Given the description of an element on the screen output the (x, y) to click on. 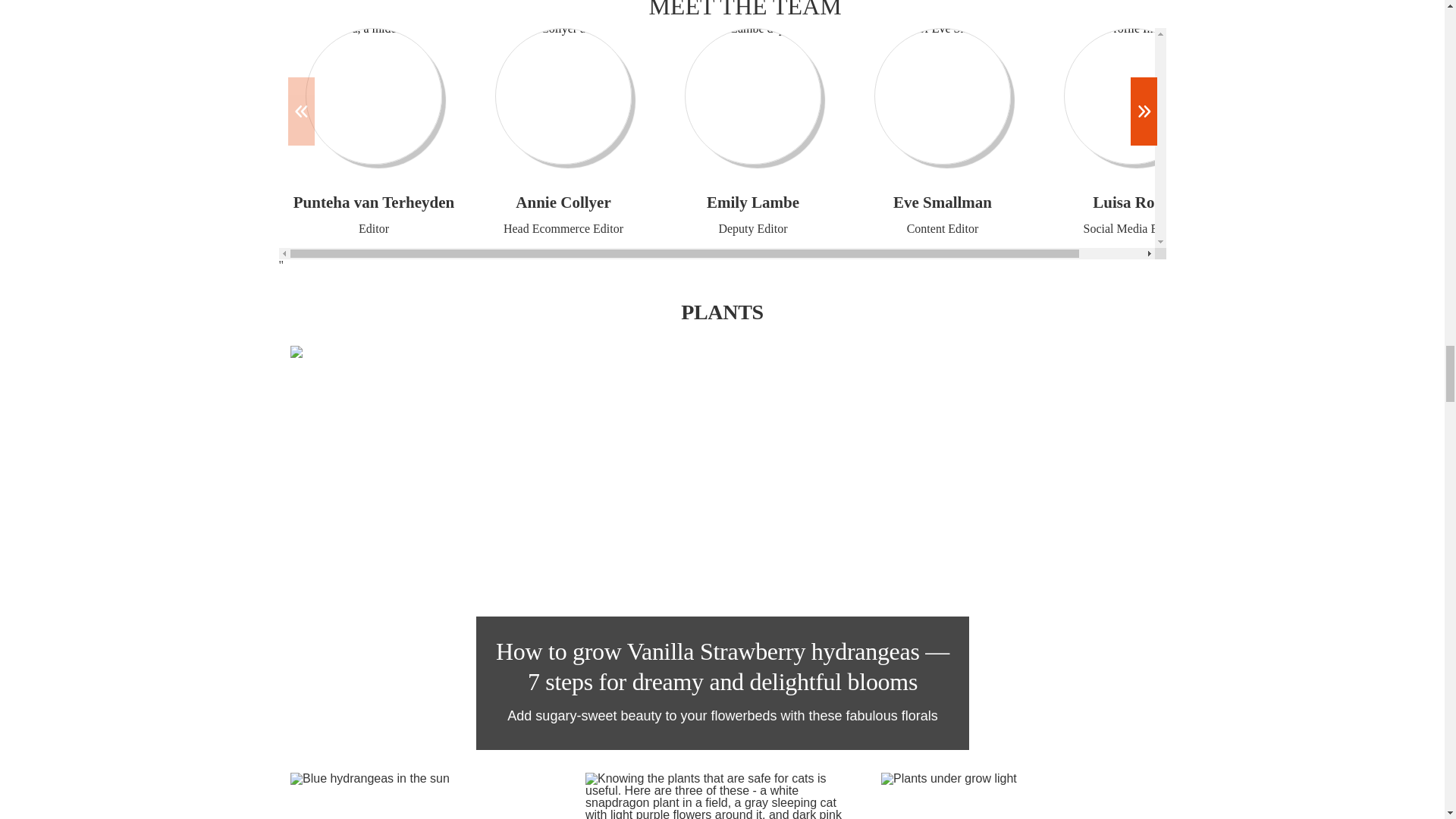
Eve Smallman (941, 95)
Emily Lambe (752, 95)
Annie Collyer (562, 95)
Luisa Rossi (1130, 95)
Punteha van Terheyden (372, 95)
